Given the description of an element on the screen output the (x, y) to click on. 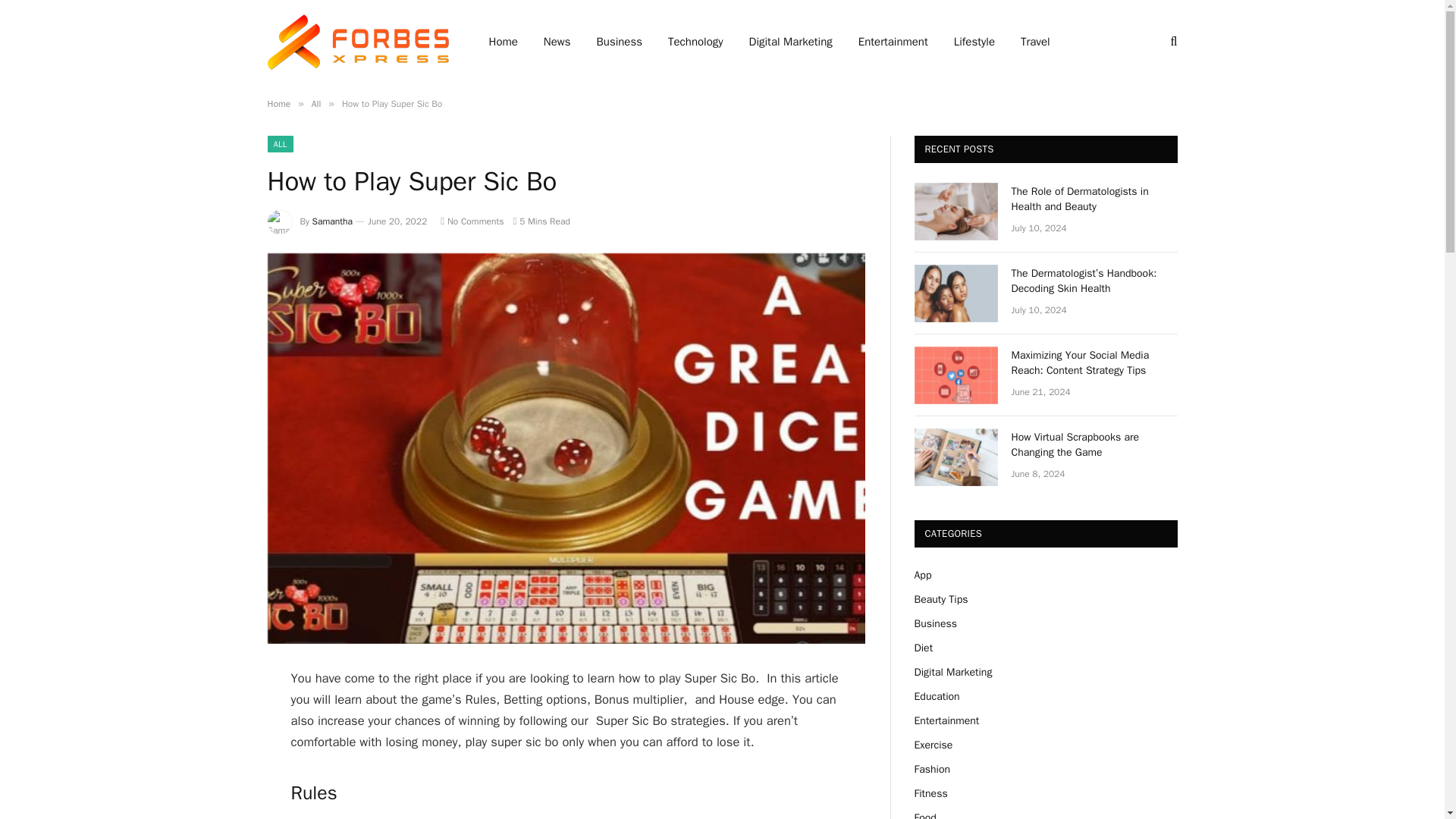
App (922, 574)
Maximizing Your Social Media Reach: Content Strategy Tips (955, 375)
ALL (279, 143)
Digital Marketing (953, 671)
Business (935, 623)
Posts by Samantha (332, 221)
How Virtual Scrapbooks are Changing the Game (955, 457)
How Virtual Scrapbooks are Changing the Game (1094, 444)
Technology (695, 41)
Home (277, 103)
Diet (923, 647)
Samantha (332, 221)
Digital Marketing (790, 41)
Maximizing Your Social Media Reach: Content Strategy Tips (1094, 363)
